Given the description of an element on the screen output the (x, y) to click on. 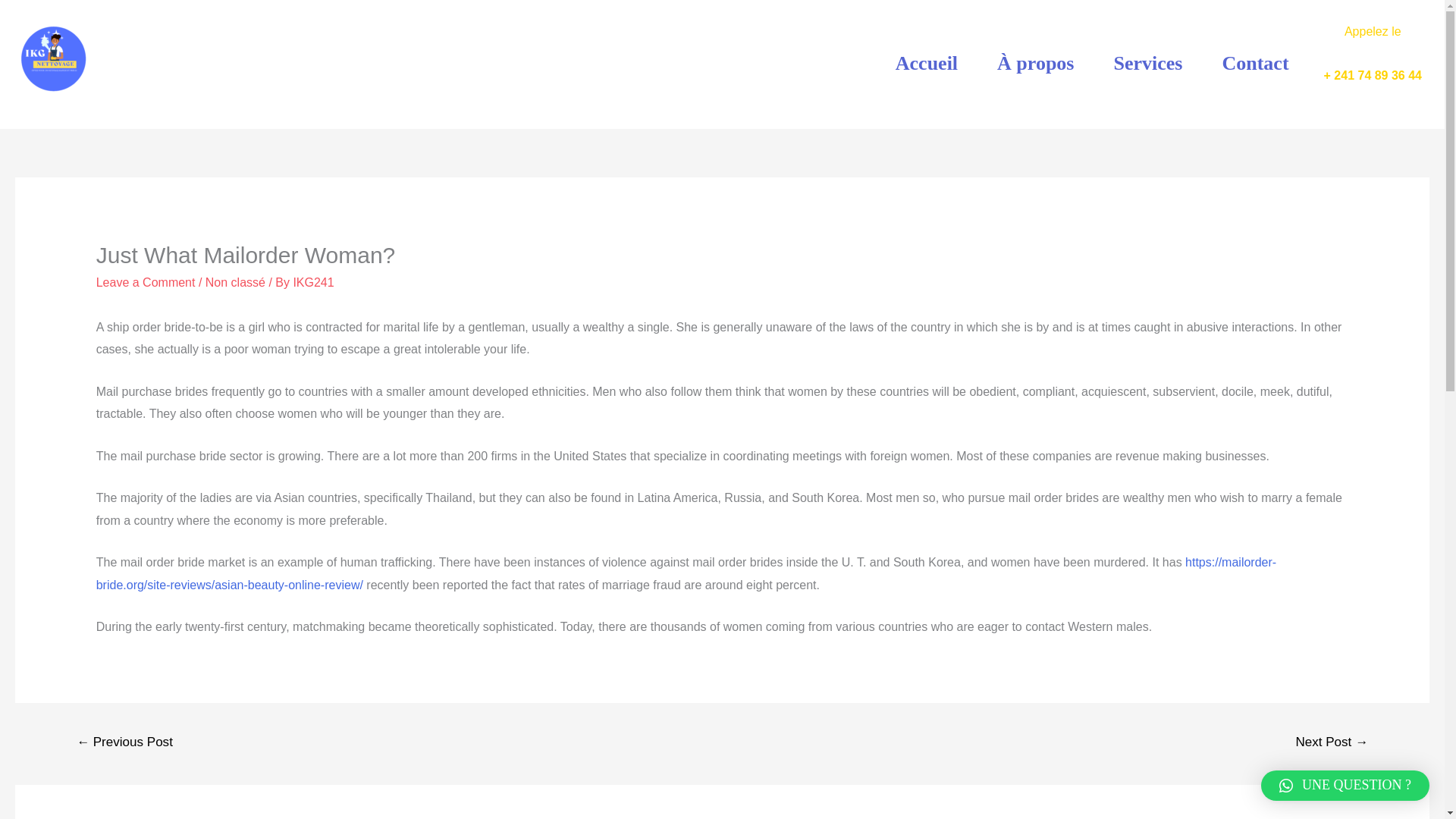
View all posts by IKG241 (312, 282)
Services (1147, 62)
Contact (1254, 62)
Accueil (926, 62)
UNE QUESTION ? (1344, 785)
IKG241 (312, 282)
Page 8 (1372, 75)
Leave a Comment (145, 282)
